Given the description of an element on the screen output the (x, y) to click on. 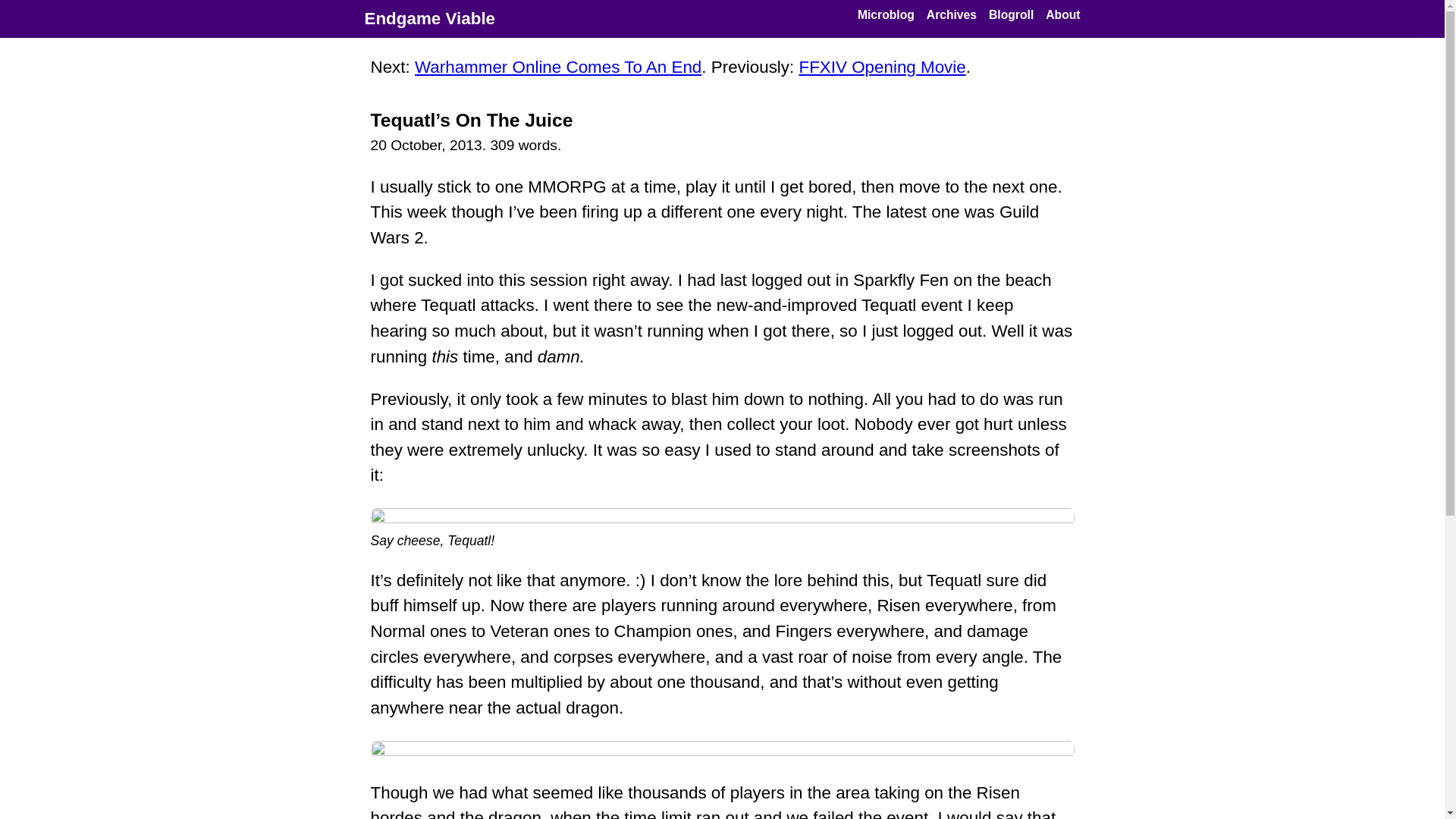
Warhammer Online Comes To An End (557, 66)
About (1062, 15)
Blogroll (1010, 15)
Archives (951, 15)
Microblog (885, 15)
Endgame Viable (429, 18)
FFXIV Opening Movie (881, 66)
